Given the description of an element on the screen output the (x, y) to click on. 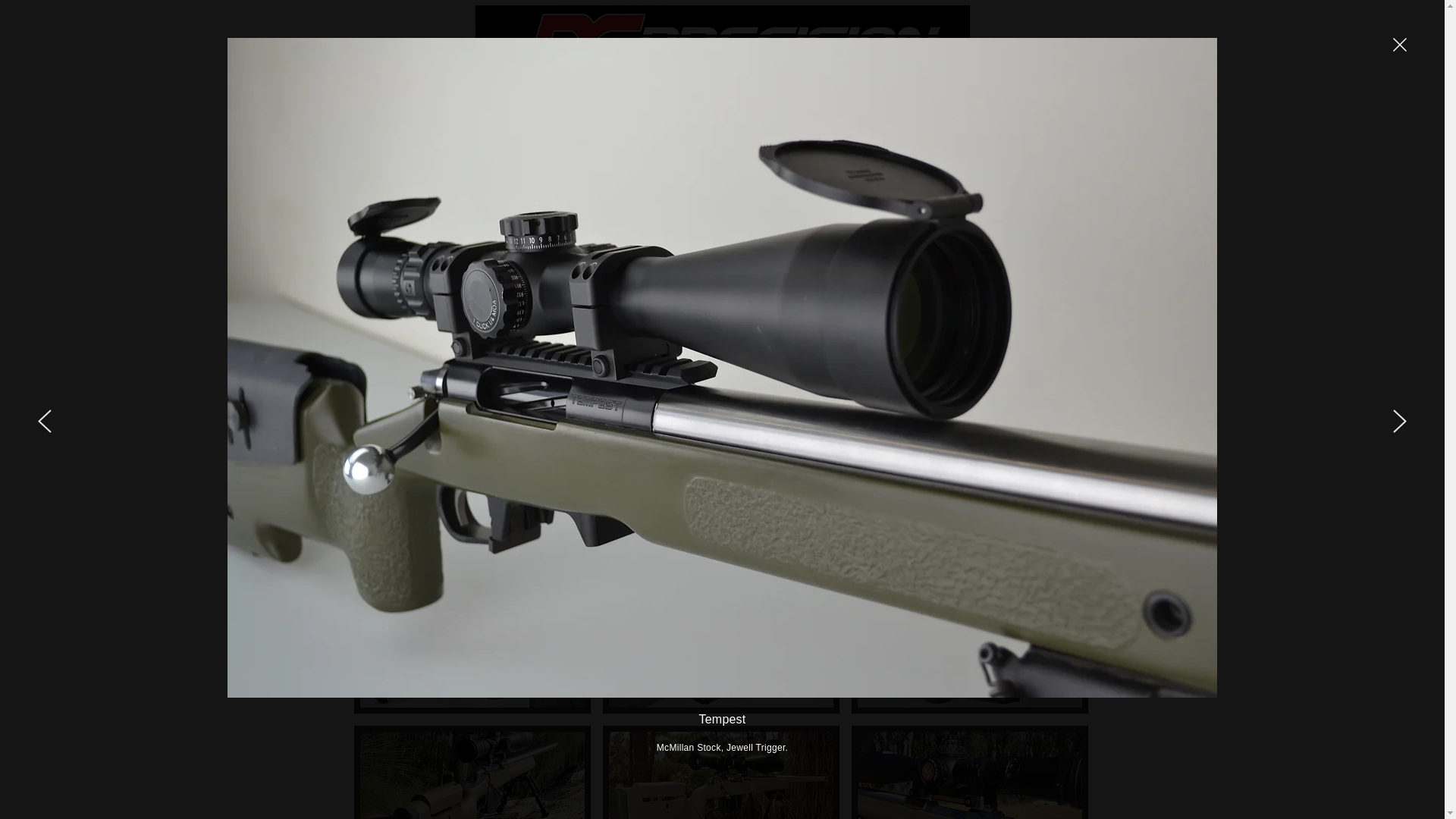
Gunsmith Services Element type: text (687, 102)
Cerakote Element type: text (572, 102)
Gallery Element type: text (881, 102)
Custom Rifles Element type: text (472, 102)
Contact Element type: text (1055, 102)
Downloads Element type: text (967, 102)
Home Element type: text (382, 102)
Products Element type: text (801, 102)
